Given the description of an element on the screen output the (x, y) to click on. 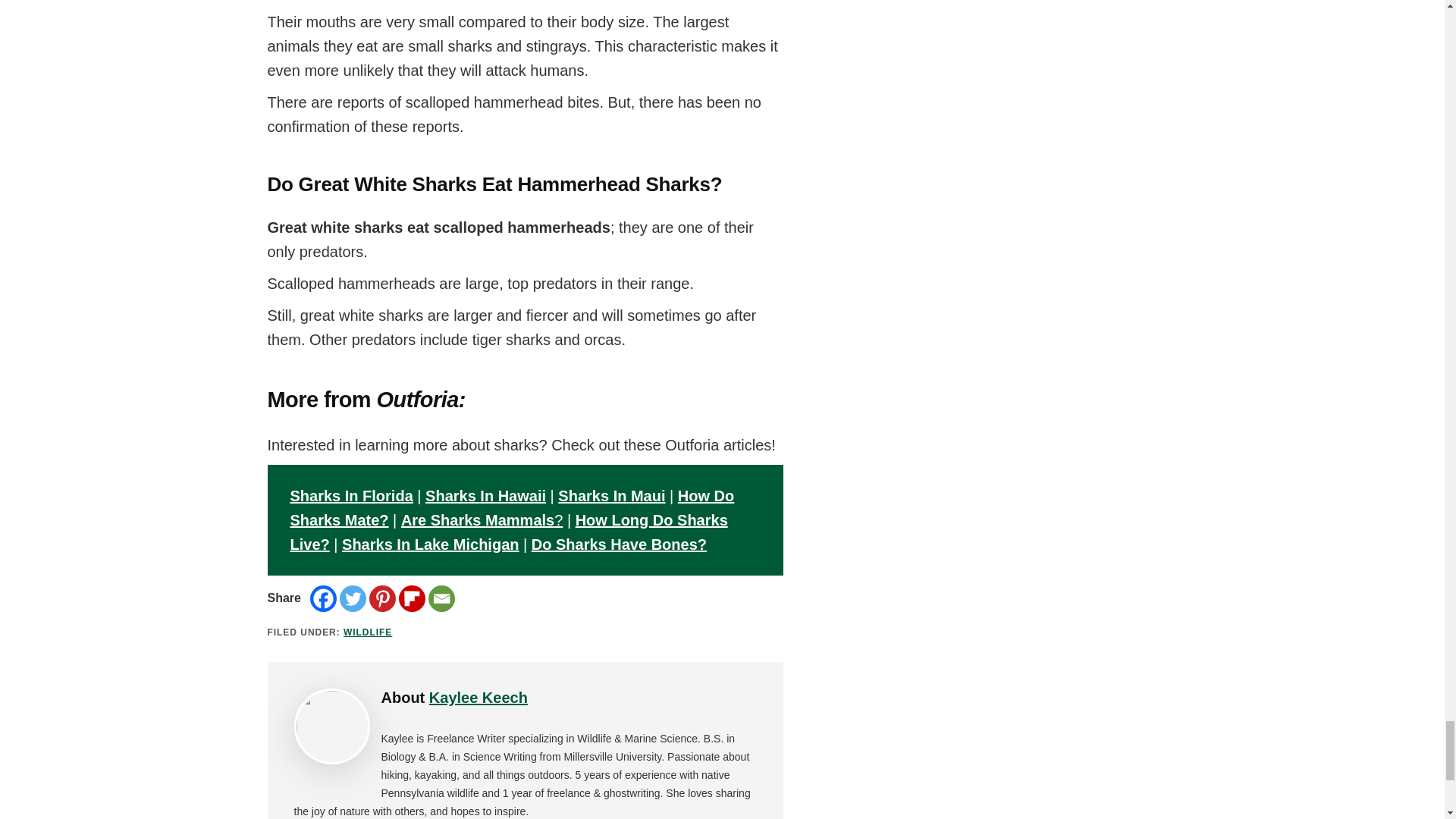
Twitter (352, 598)
Email (441, 598)
Facebook (323, 598)
Pinterest (382, 598)
Flipboard (411, 598)
